Given the description of an element on the screen output the (x, y) to click on. 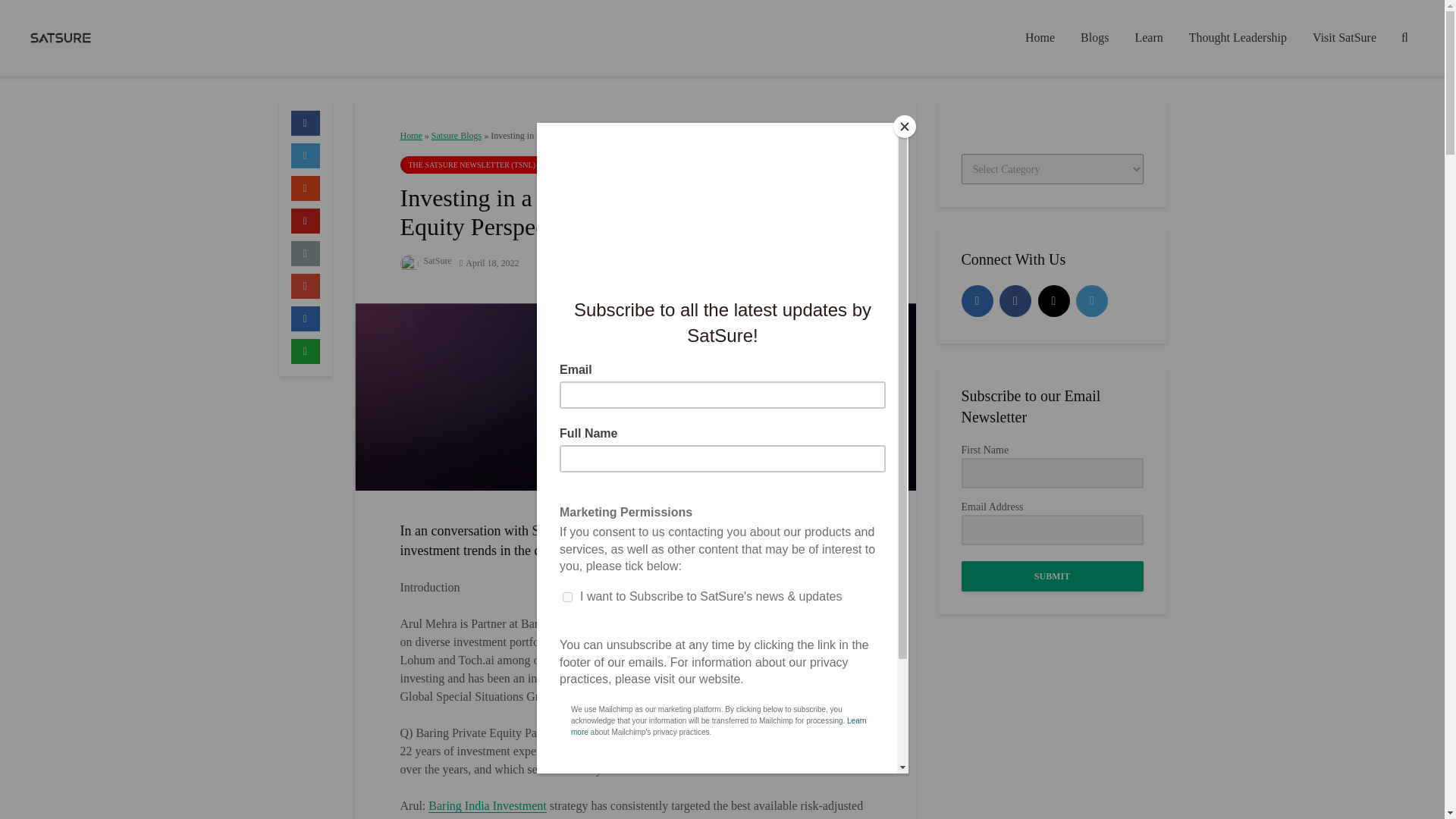
Twitter (1091, 300)
Baring India Investment (487, 806)
SatSure (425, 260)
Home (411, 135)
Home (1039, 37)
Visit SatSure (1344, 37)
Blogs (1093, 37)
Thought Leadership (1237, 37)
Instagram (1052, 300)
Facebook (1014, 300)
Satsure Blogs (455, 135)
Learn (1147, 37)
Linkedin (976, 300)
